Given the description of an element on the screen output the (x, y) to click on. 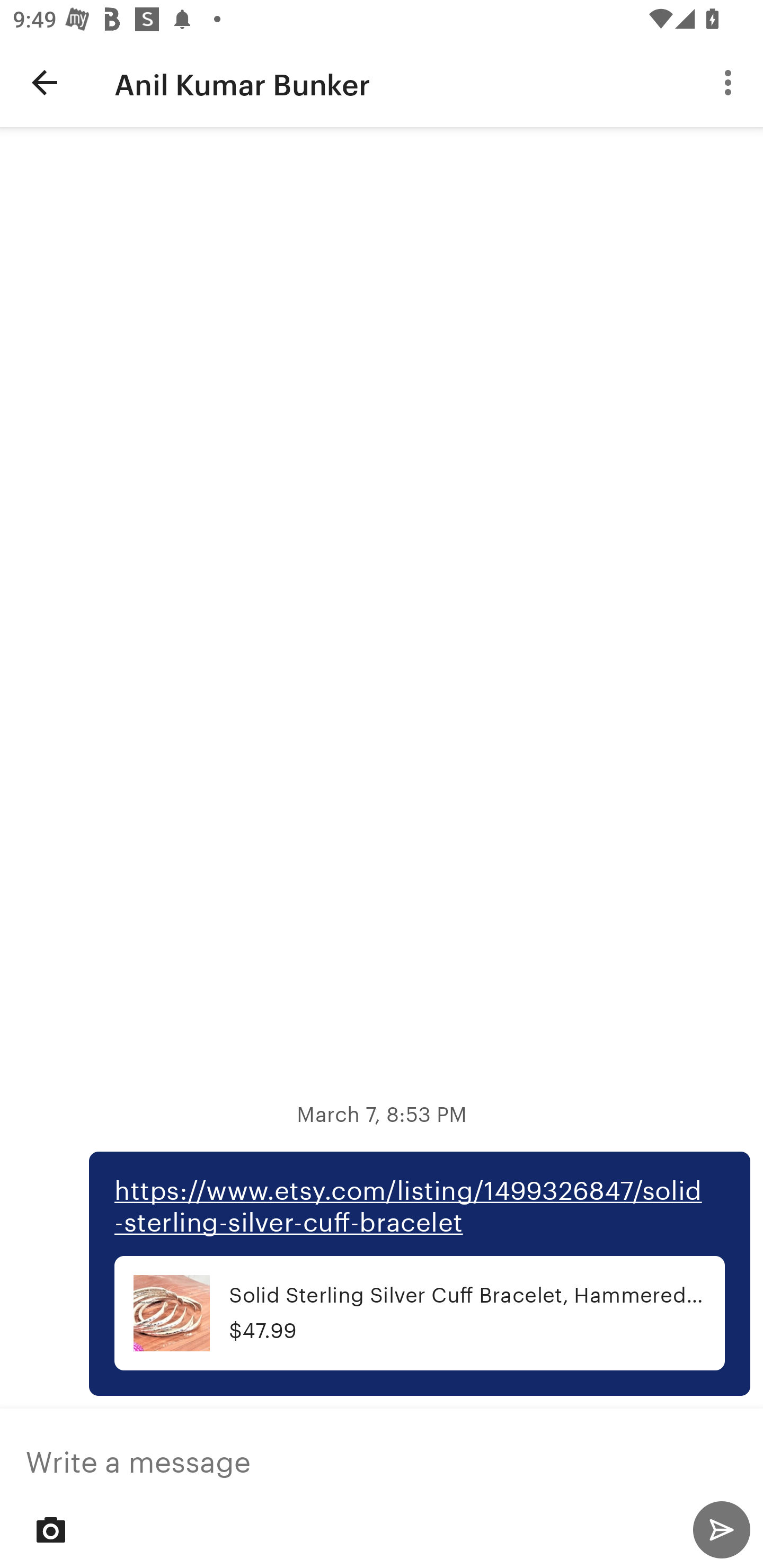
Navigate up (44, 82)
More options (731, 81)
Write a message (381, 1455)
Select image (50, 1529)
Send (721, 1529)
